Given the description of an element on the screen output the (x, y) to click on. 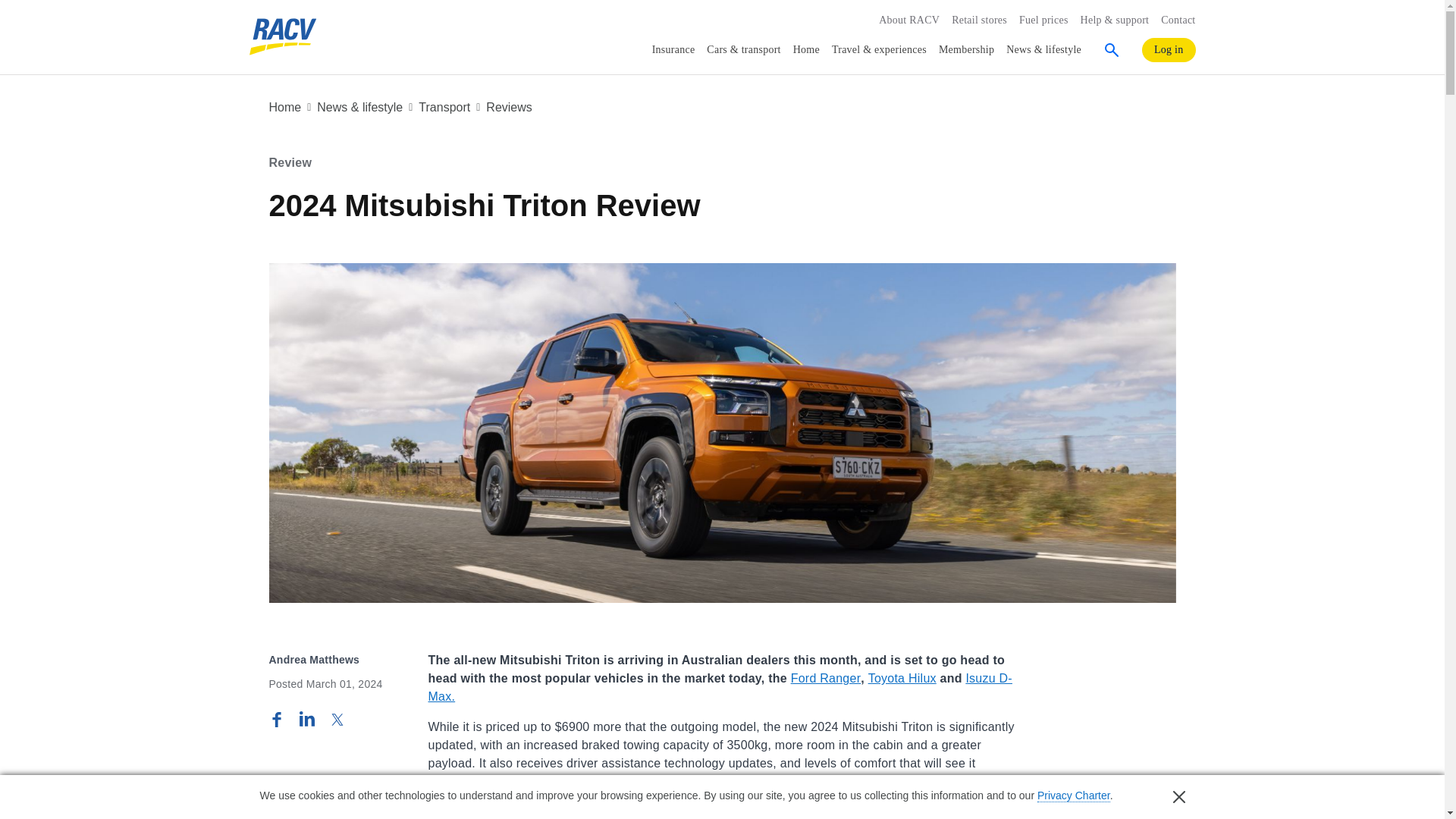
Retail stores (979, 20)
Toyota Hilux (901, 677)
Log in (1168, 49)
Isuzu D-Max. (719, 686)
RACV Privacy Charter (1072, 795)
Contact (1177, 20)
Home (806, 49)
LinkedIn (306, 719)
Fuel prices (1043, 20)
Ford Ranger (825, 677)
